Given the description of an element on the screen output the (x, y) to click on. 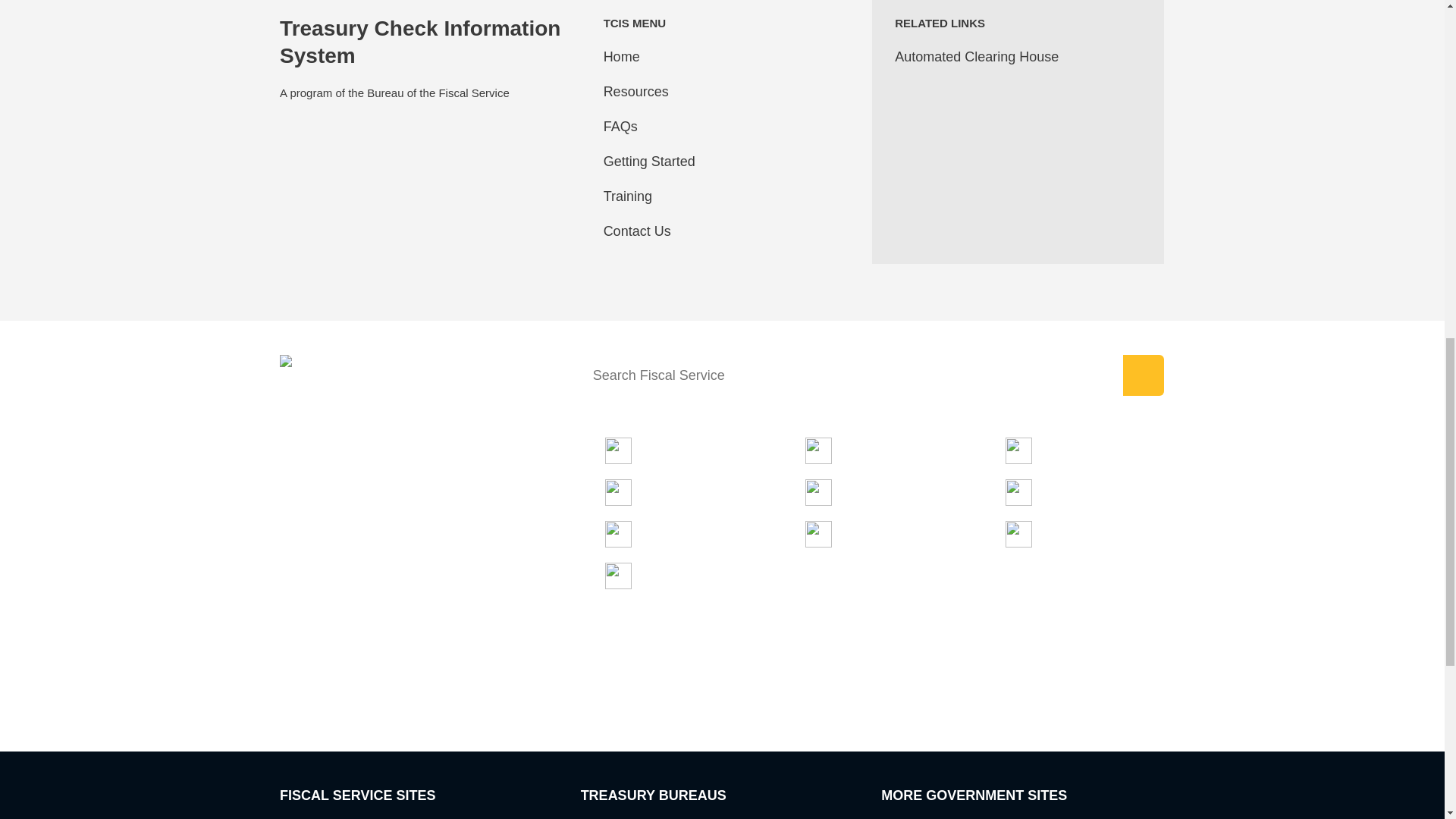
Reference (646, 492)
Automated Clearing House (977, 56)
Getting Started (649, 160)
Events (1037, 492)
Facebook (387, 668)
LinkedIn (341, 668)
FAQs (621, 126)
YouTube (432, 668)
Contact (638, 575)
About (833, 533)
